Given the description of an element on the screen output the (x, y) to click on. 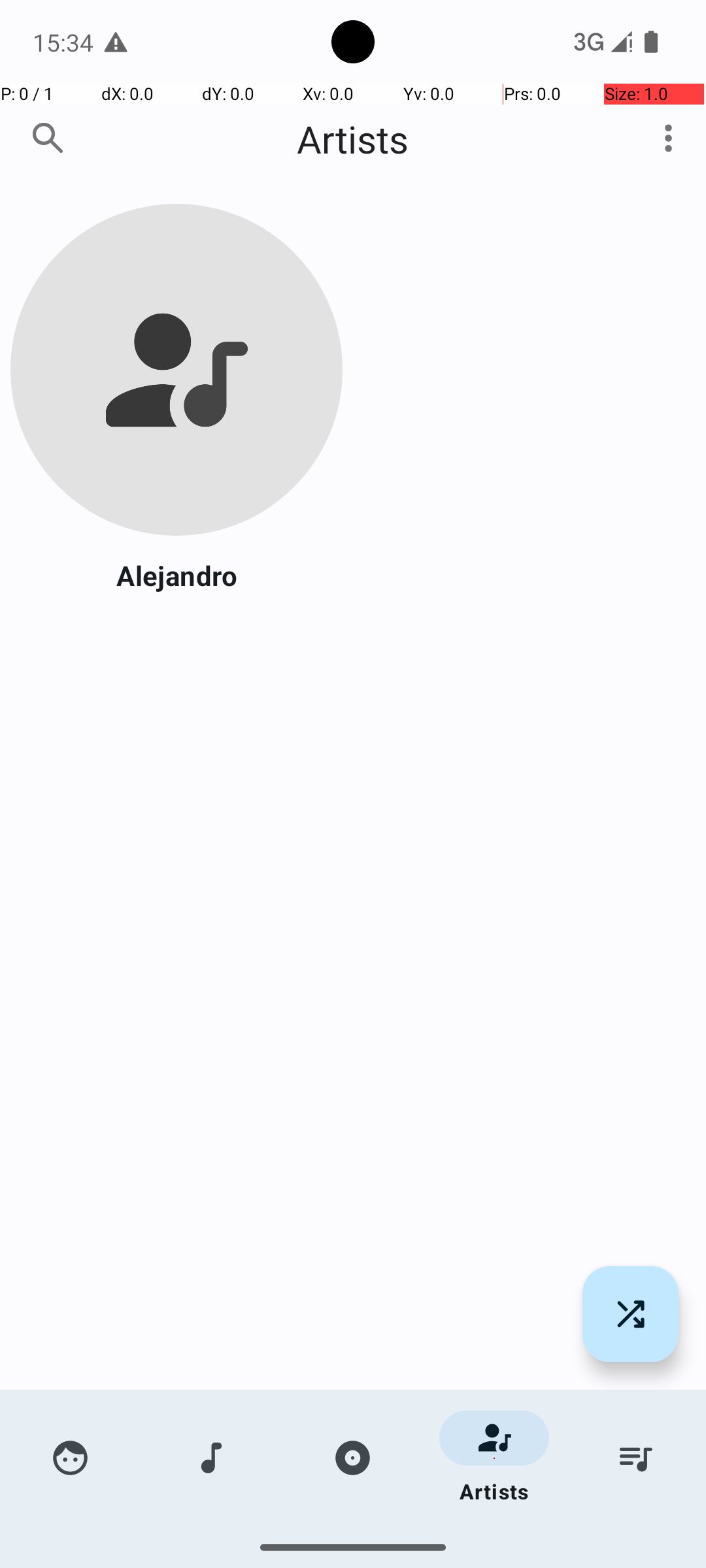
Alejandro Element type: android.widget.TextView (175, 574)
